Given the description of an element on the screen output the (x, y) to click on. 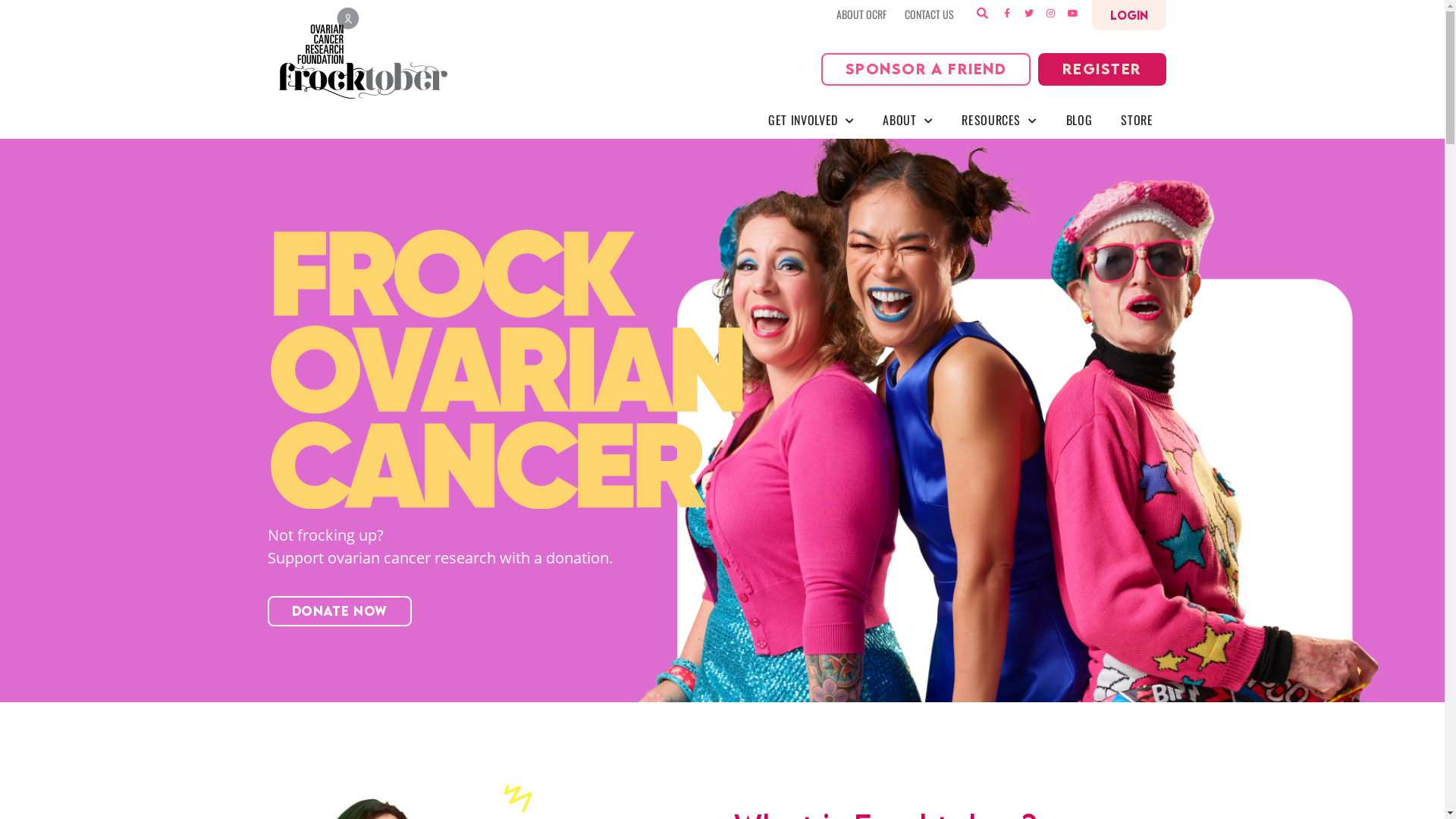
BLOG Element type: text (1079, 119)
REGISTER Element type: text (1102, 69)
RESOURCES Element type: text (998, 119)
CONTACT US Element type: text (928, 14)
STORE Element type: text (1136, 119)
ABOUT Element type: text (907, 119)
SPONSOR A FRIEND Element type: text (925, 69)
ABOUT OCRF Element type: text (860, 14)
GET INVOLVED Element type: text (810, 119)
DONATE NOW Element type: text (338, 611)
LOGIN Element type: text (1129, 15)
